Given the description of an element on the screen output the (x, y) to click on. 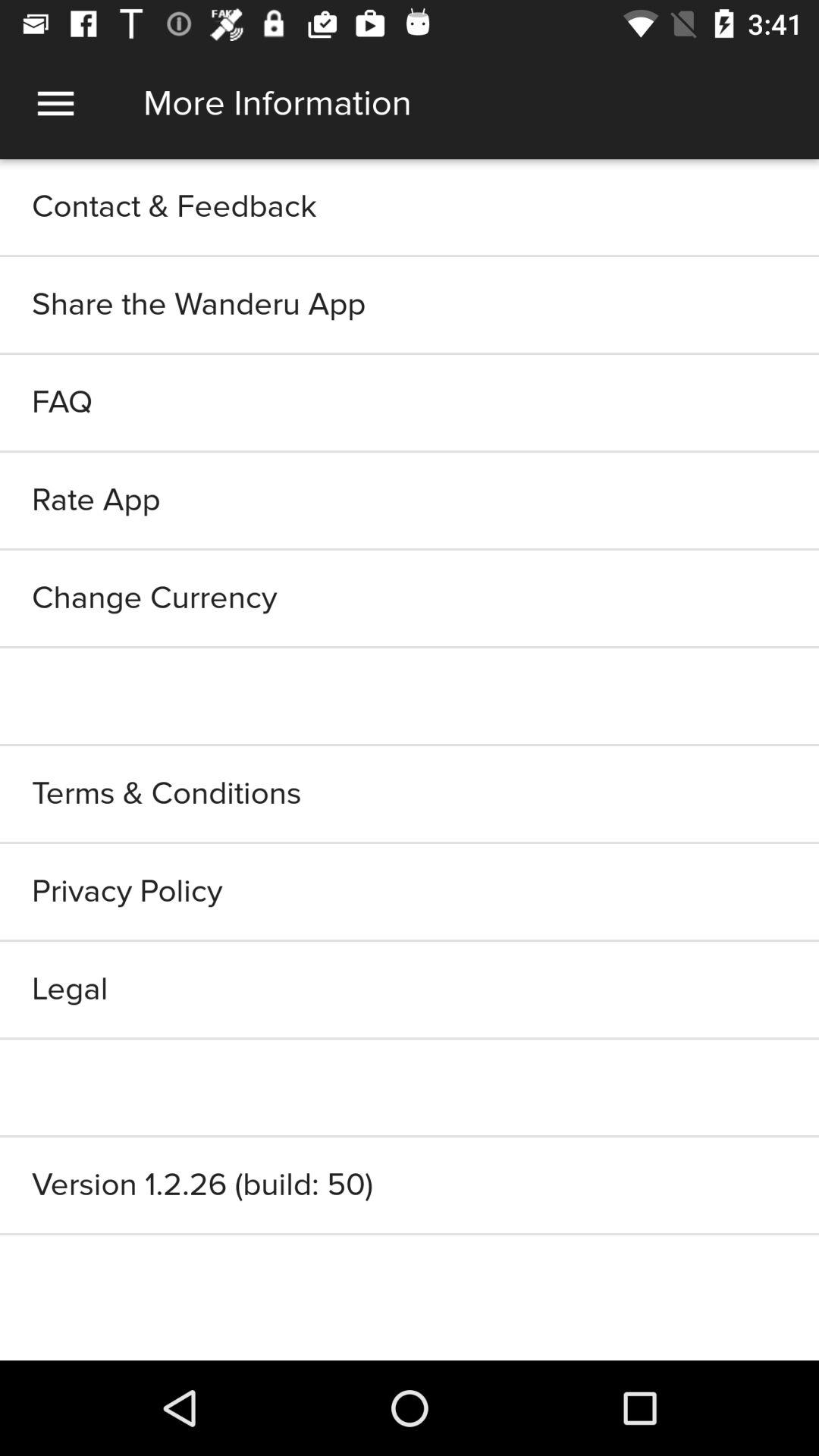
more options (55, 103)
